Given the description of an element on the screen output the (x, y) to click on. 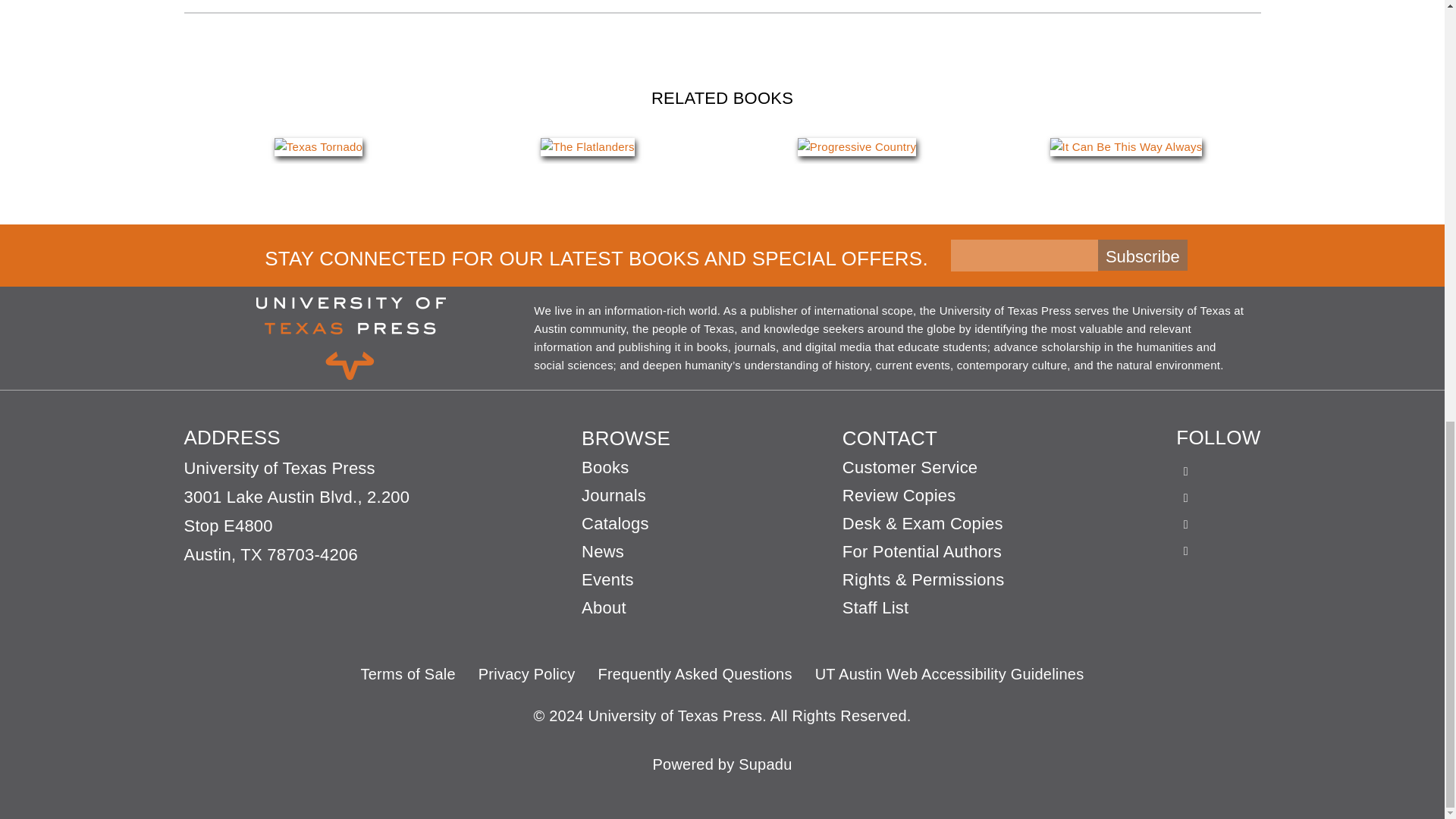
Follow us on Instagram (1185, 516)
Follow us on Facebook (1185, 463)
Subscribe (1142, 255)
Texas Tornado (318, 147)
isbn-carousel (721, 146)
Progressive Country (856, 147)
The Flatlanders (587, 147)
It Can Be This Way Always (1125, 147)
